Given the description of an element on the screen output the (x, y) to click on. 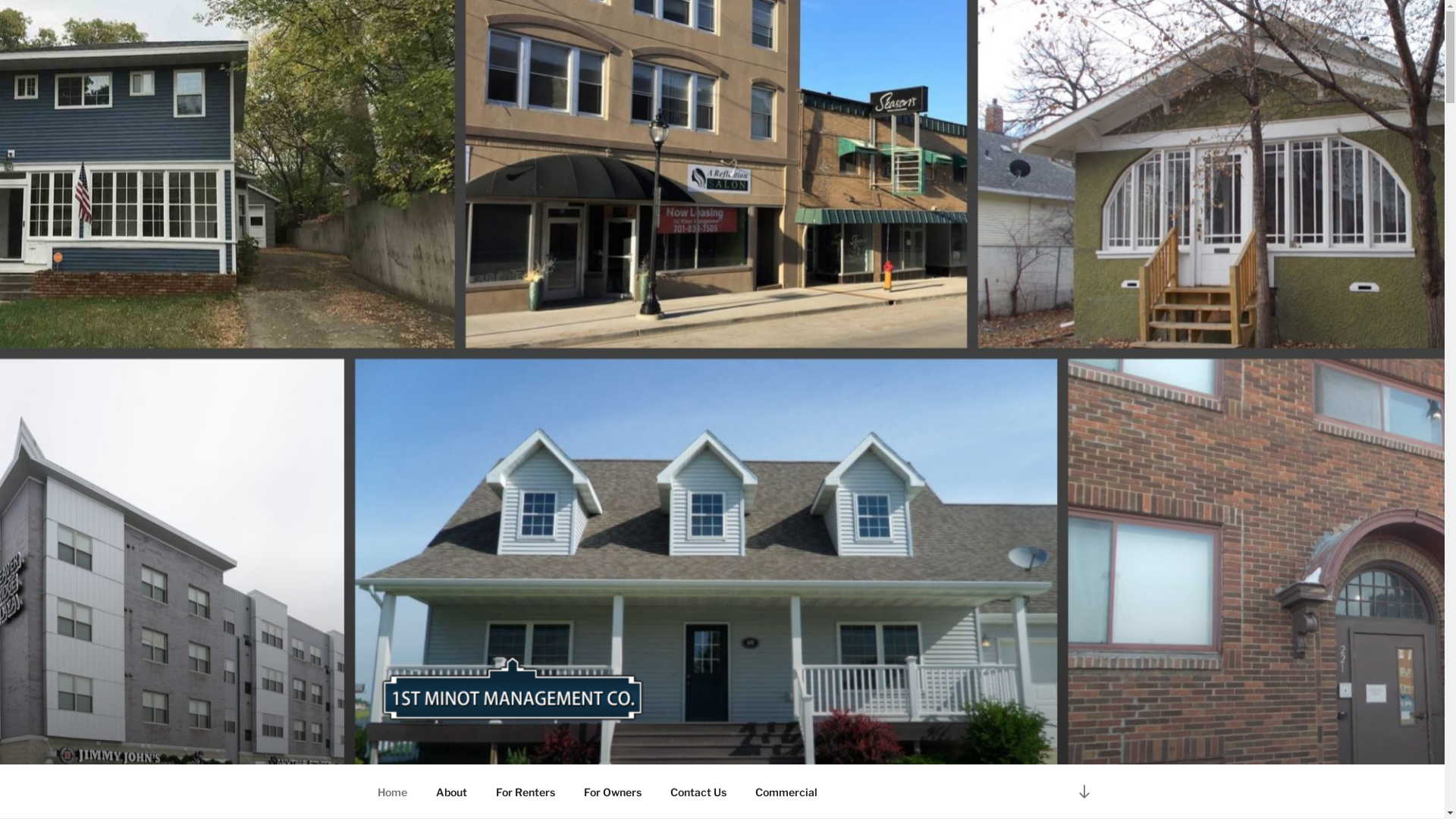
1ST MINOT MANAGEMENT Element type: text (584, 744)
Scroll down to content Element type: text (1083, 790)
Home Element type: text (392, 791)
For Renters Element type: text (524, 791)
Commercial Element type: text (785, 791)
For Owners Element type: text (612, 791)
Contact Us Element type: text (697, 791)
About Element type: text (451, 791)
